Given the description of an element on the screen output the (x, y) to click on. 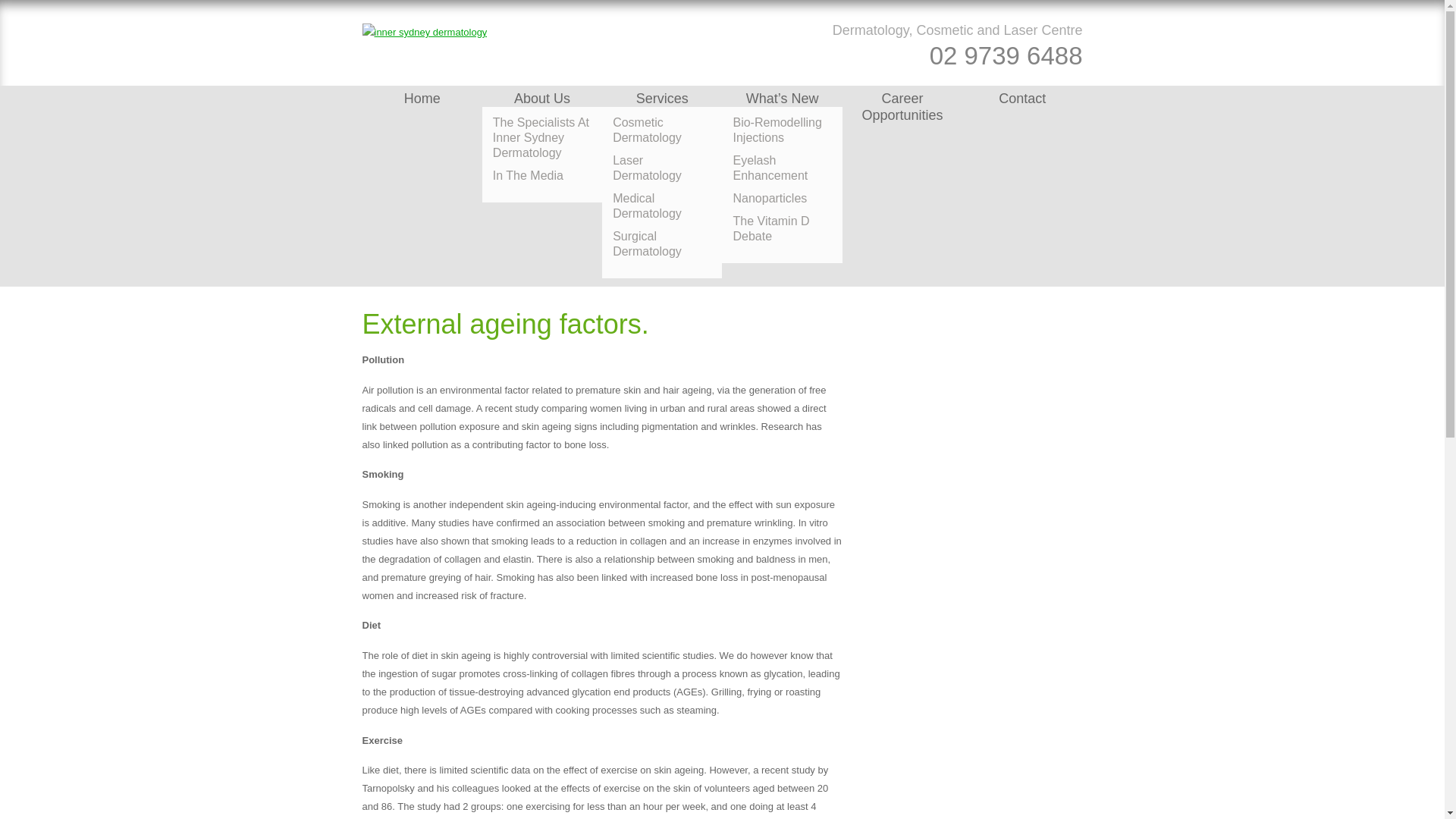
Nanoparticles (781, 198)
Career Opportunities (901, 106)
Surgical Dermatology (662, 243)
Eyelash Enhancement (781, 168)
In The Media (541, 175)
Laser Dermatology (662, 168)
Bio-Remodelling Injections (781, 130)
Contact (1021, 98)
Medical Dermatology (662, 206)
About Us (541, 98)
